Given the description of an element on the screen output the (x, y) to click on. 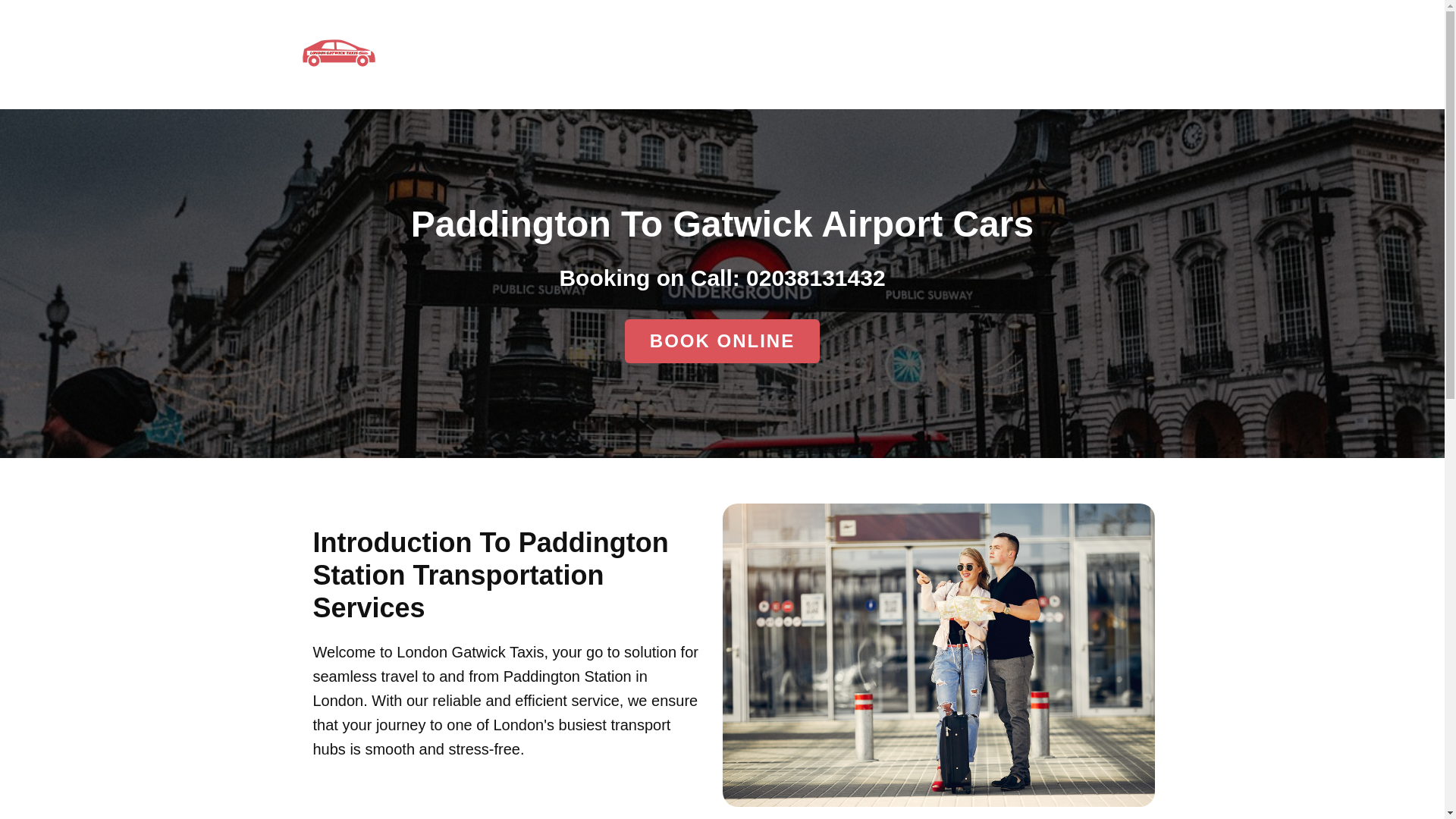
BOOK ONLINE (721, 341)
02038131432 (815, 277)
